Given the description of an element on the screen output the (x, y) to click on. 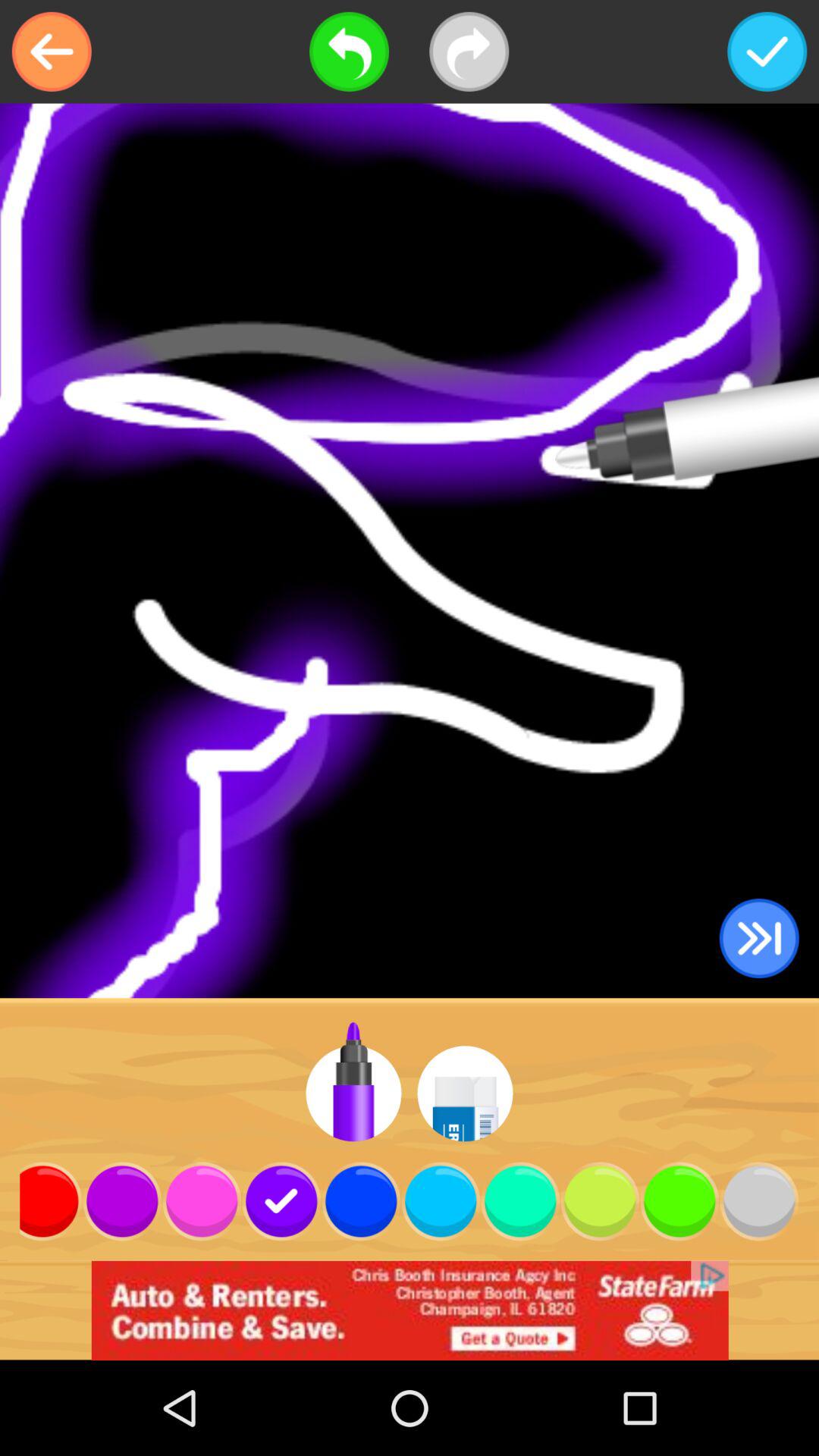
accept and save (767, 51)
